Given the description of an element on the screen output the (x, y) to click on. 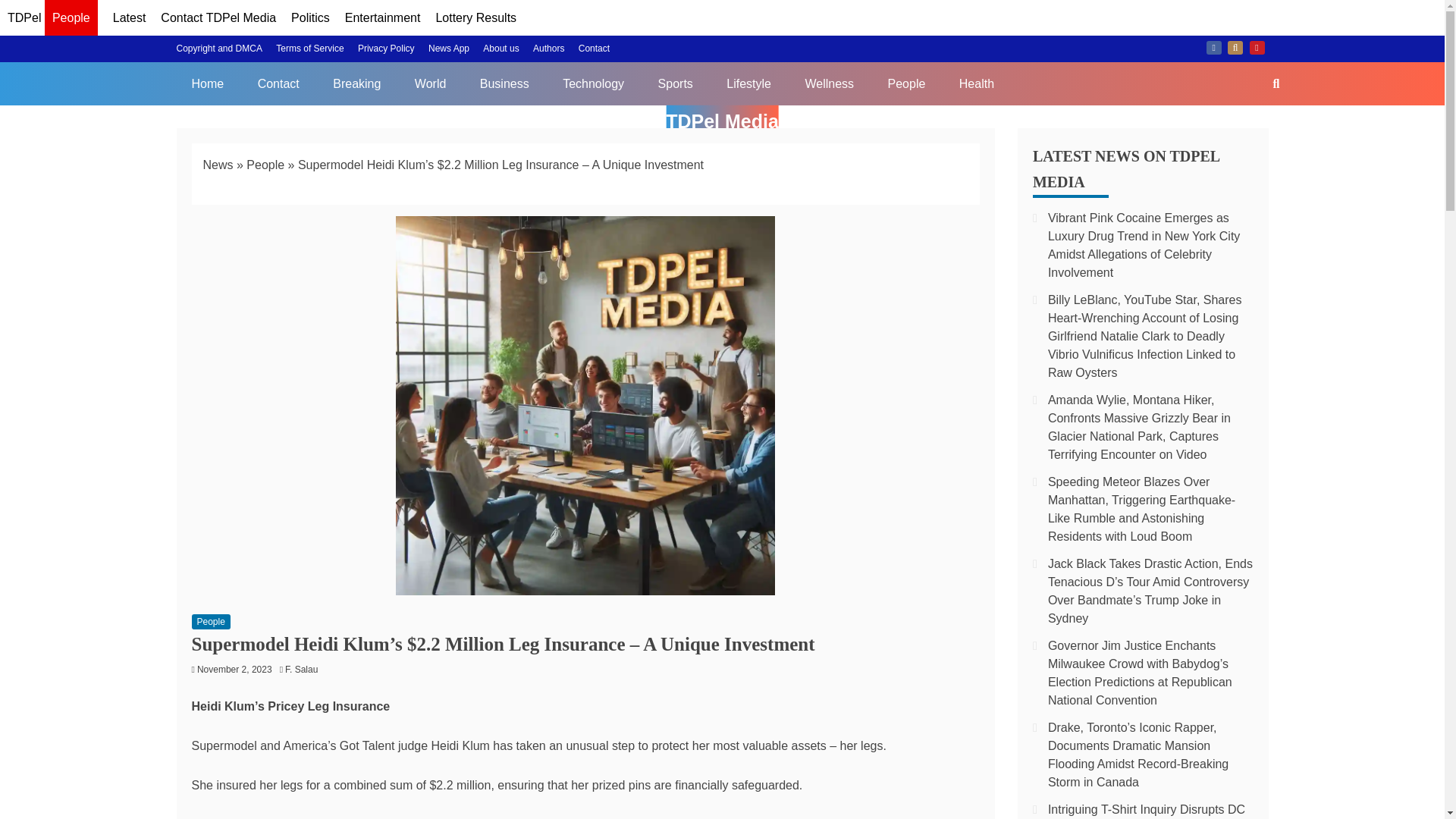
Entertainment (382, 17)
Lottery Results (475, 17)
Sports (675, 83)
News App (448, 48)
Contact TDPel Media (218, 17)
TDPel (23, 17)
Business (504, 83)
About us (500, 48)
World (429, 83)
Technology (593, 83)
Pinterest (1257, 47)
Facebook (1214, 47)
People (264, 164)
People (906, 83)
News (217, 164)
